Given the description of an element on the screen output the (x, y) to click on. 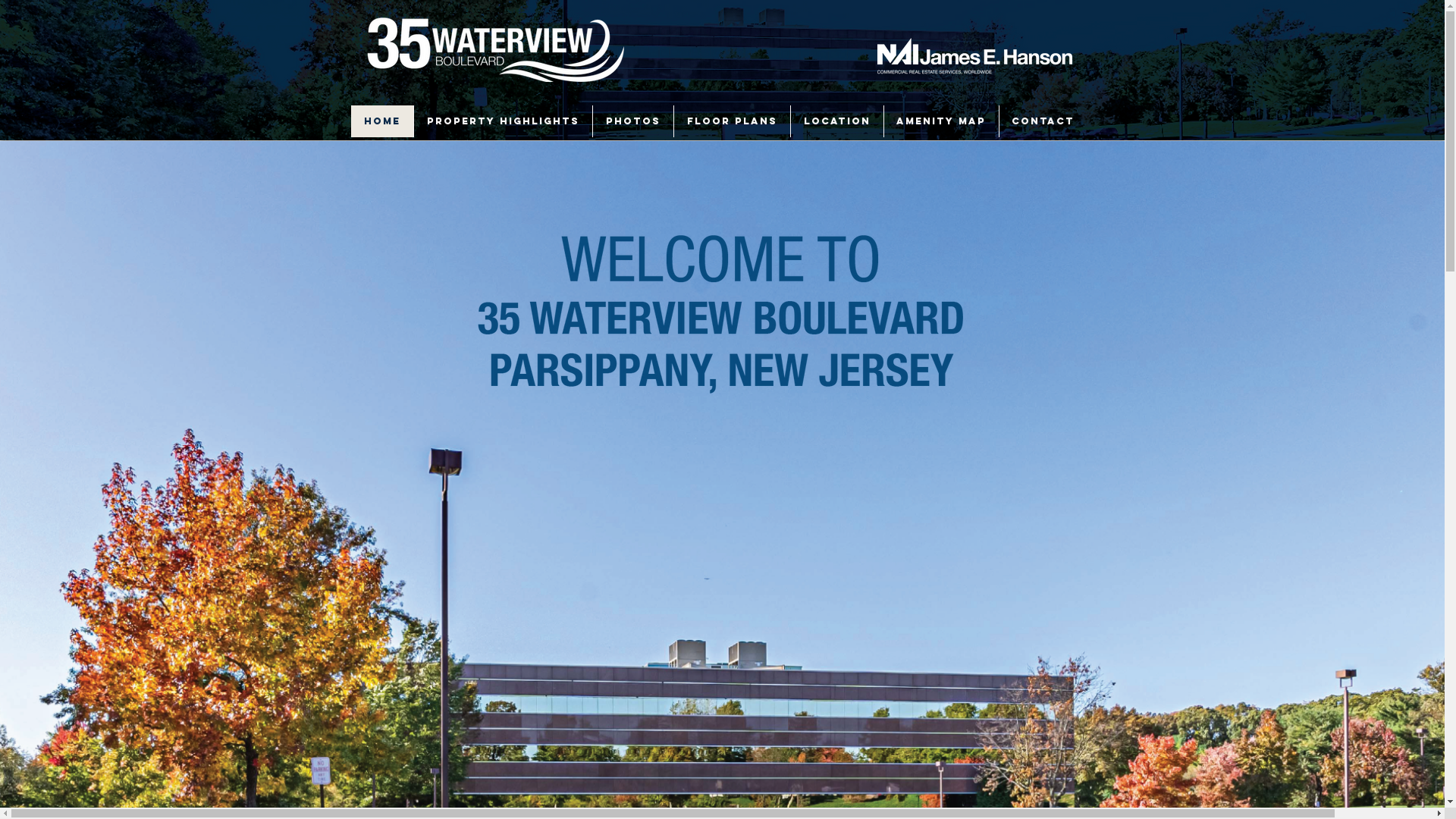
CONTACT Element type: text (1041, 121)
TWIPLA (Visitor Analytics) Element type: hover (1442, 4)
LOCATION Element type: text (836, 121)
HOME Element type: text (381, 121)
FLOOR PLANS Element type: text (731, 121)
PROPERTY HIGHLIGHTS Element type: text (501, 121)
AMENITY MAP Element type: text (939, 121)
PHOTOS Element type: text (631, 121)
